Given the description of an element on the screen output the (x, y) to click on. 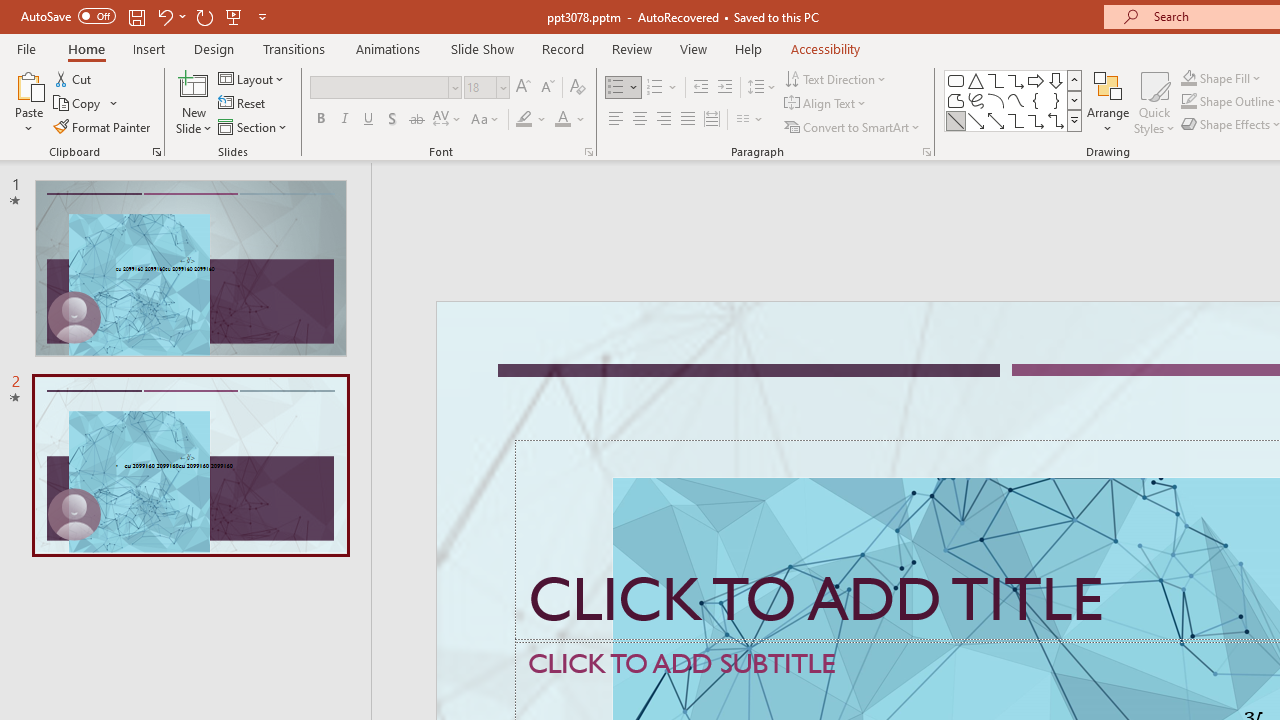
Line Arrow: Double (995, 120)
Connector: Elbow Double-Arrow (1055, 120)
